Given the description of an element on the screen output the (x, y) to click on. 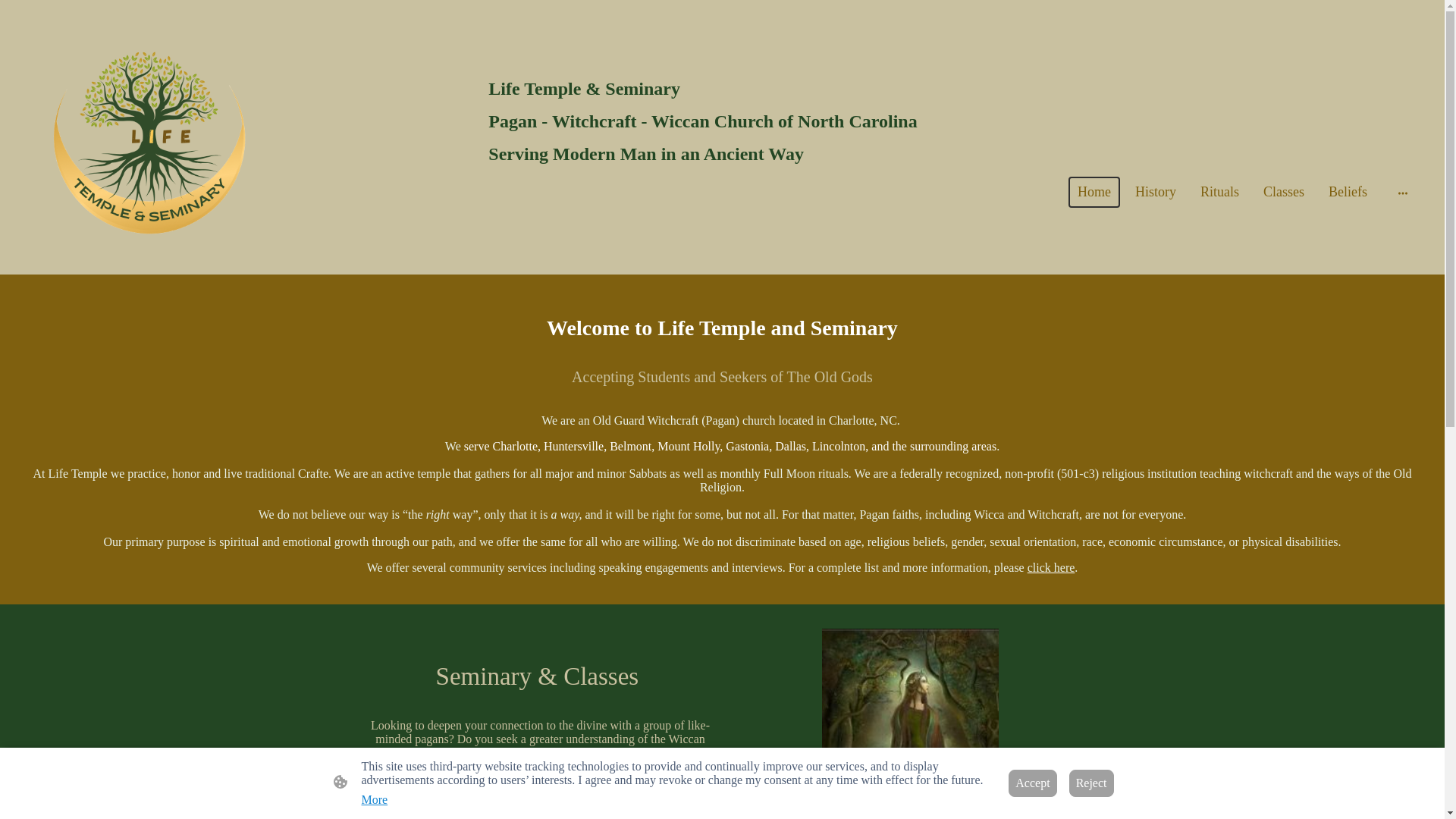
History (1154, 192)
Rituals (1219, 192)
click here (1051, 567)
Home (1094, 192)
Wiccan Church Charlotte NC (910, 723)
Beliefs (1347, 192)
Classes (1283, 192)
